Given the description of an element on the screen output the (x, y) to click on. 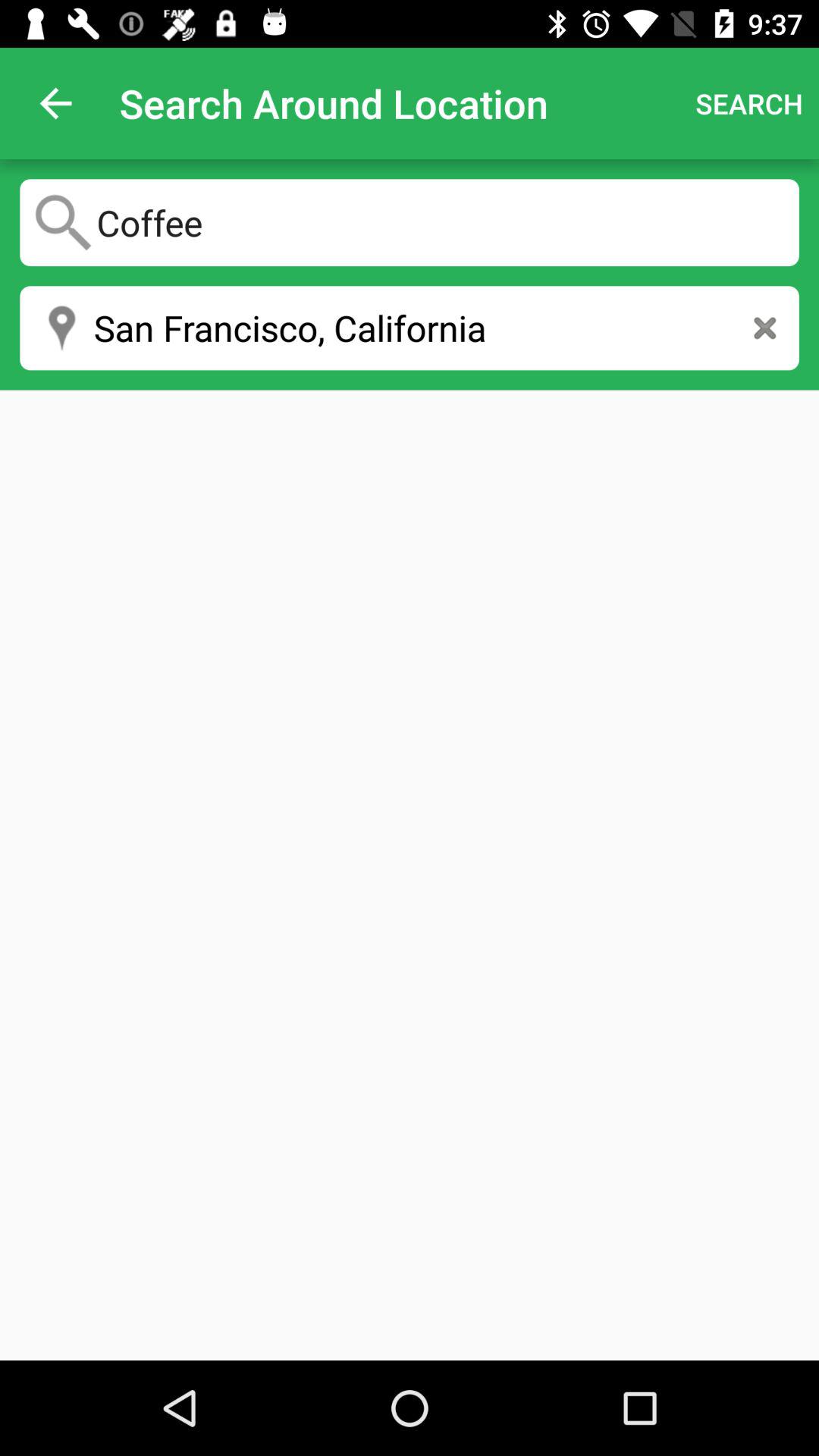
tap san francisco, california icon (409, 328)
